Given the description of an element on the screen output the (x, y) to click on. 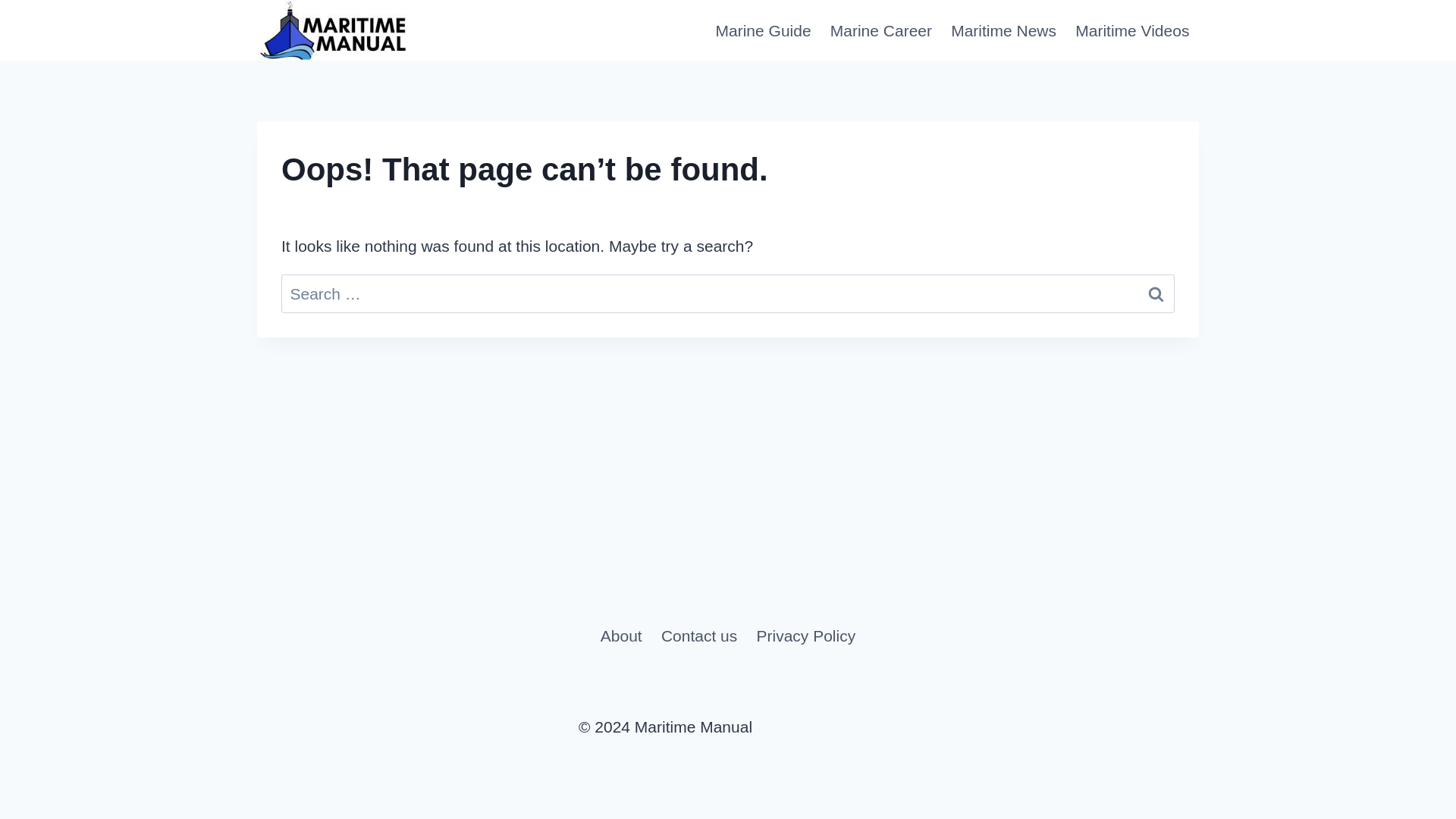
Contact us (698, 635)
Search (1155, 293)
Maritime News (1003, 30)
About (620, 635)
Marine Career (880, 30)
Maritime Videos (1131, 30)
Search (1155, 293)
Privacy Policy (805, 635)
Search (1155, 293)
Marine Guide (763, 30)
